Given the description of an element on the screen output the (x, y) to click on. 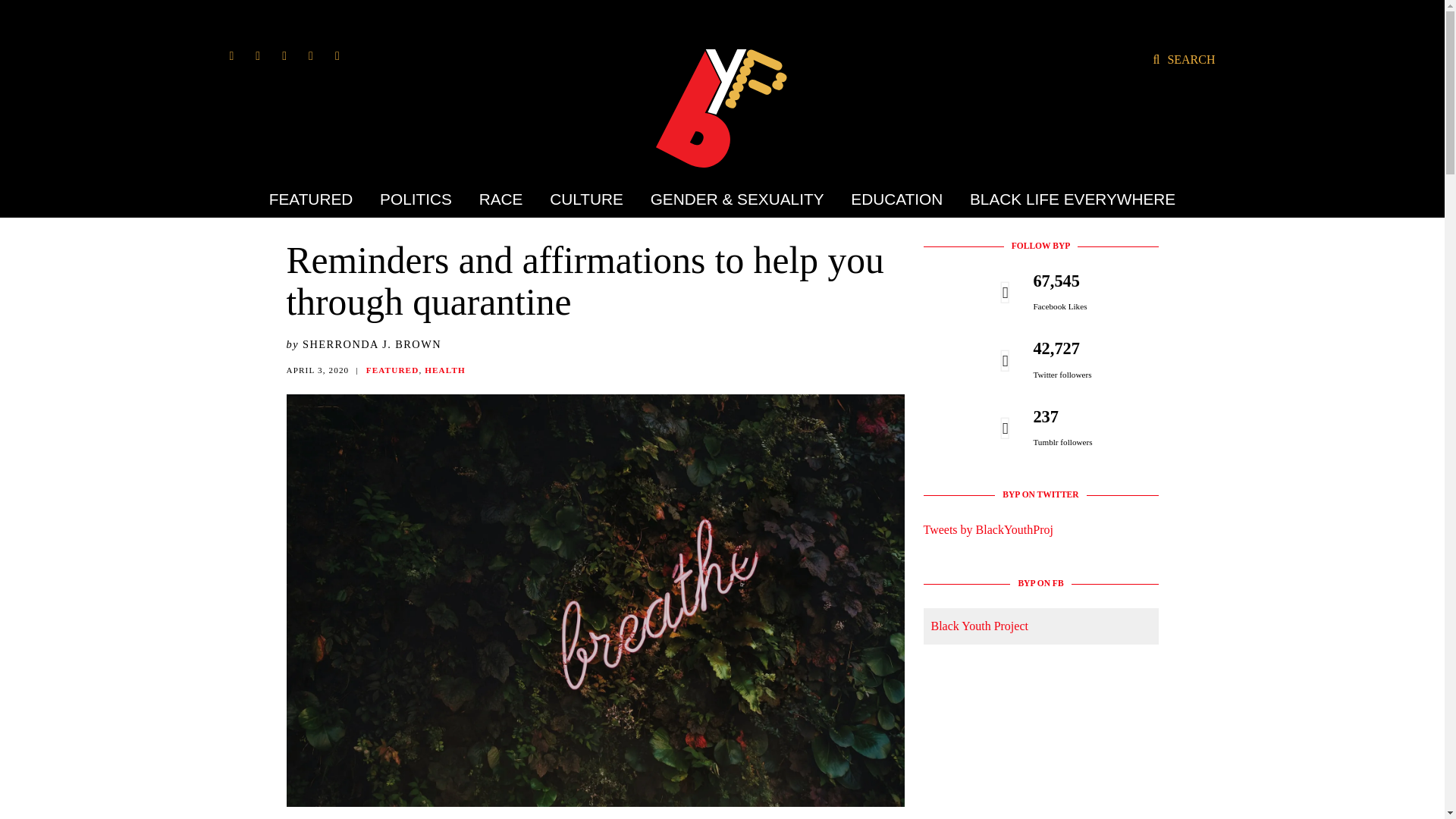
POLITICS (415, 198)
FEATURED (392, 369)
FEATURED (317, 198)
EDUCATION (896, 198)
BLACK LIFE EVERYWHERE (1066, 198)
CULTURE (586, 198)
SEARCH (1183, 59)
by SHERRONDA J. BROWN (364, 344)
HEALTH (445, 369)
RACE (500, 198)
